Given the description of an element on the screen output the (x, y) to click on. 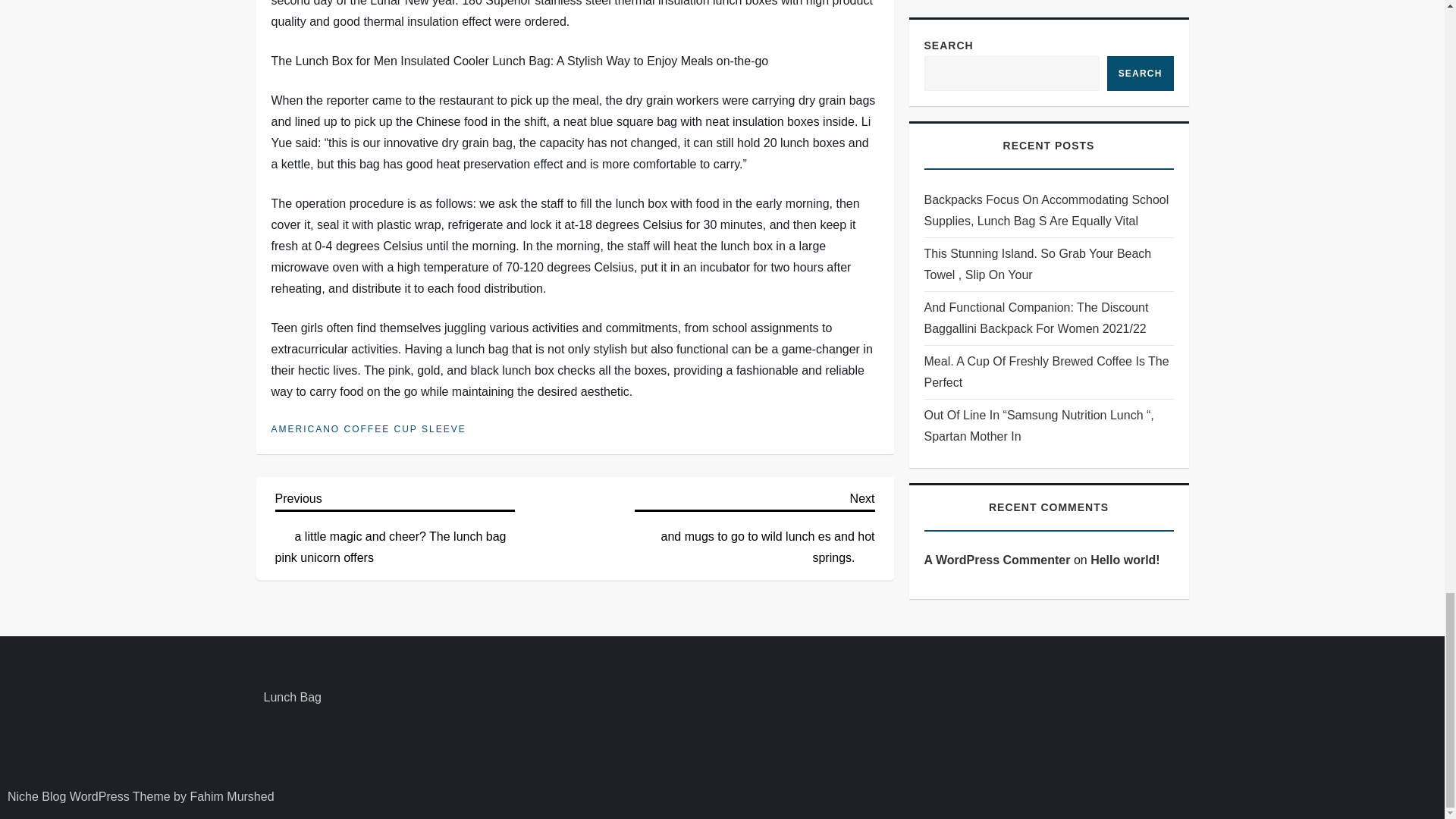
AMERICANO COFFEE CUP SLEEVE (367, 429)
Fahim Murshed (231, 796)
Lunch Bag (292, 697)
